Given the description of an element on the screen output the (x, y) to click on. 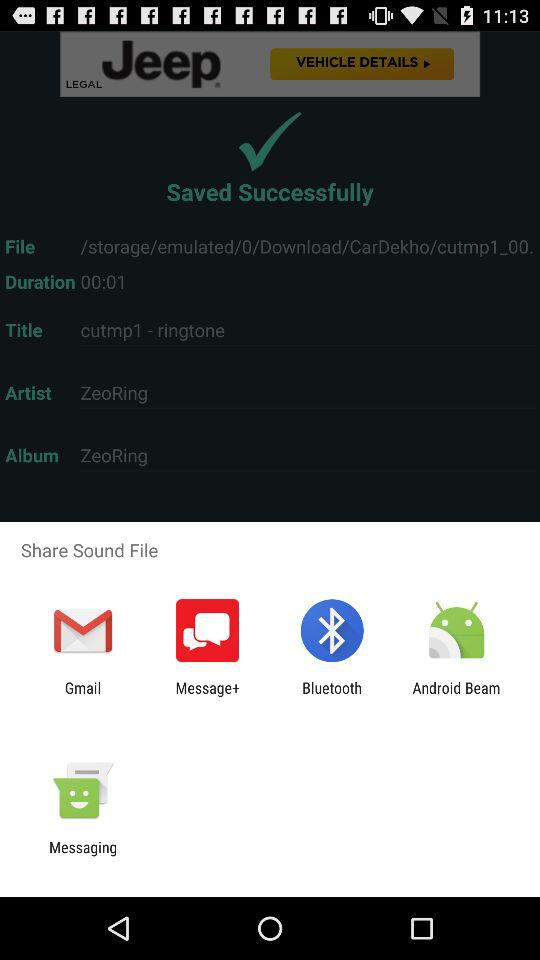
flip until the bluetooth (331, 696)
